Given the description of an element on the screen output the (x, y) to click on. 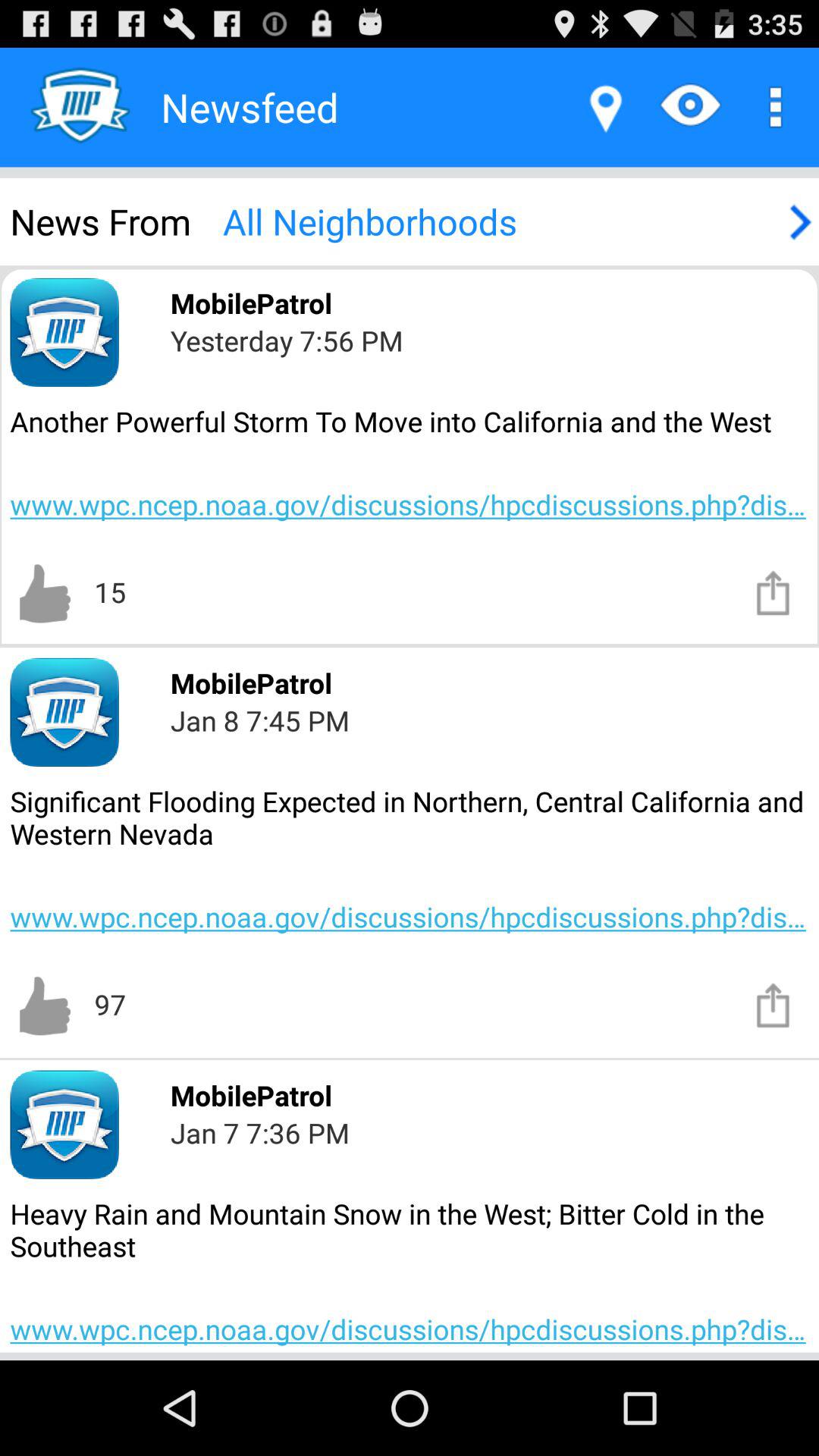
download the information (774, 592)
